Given the description of an element on the screen output the (x, y) to click on. 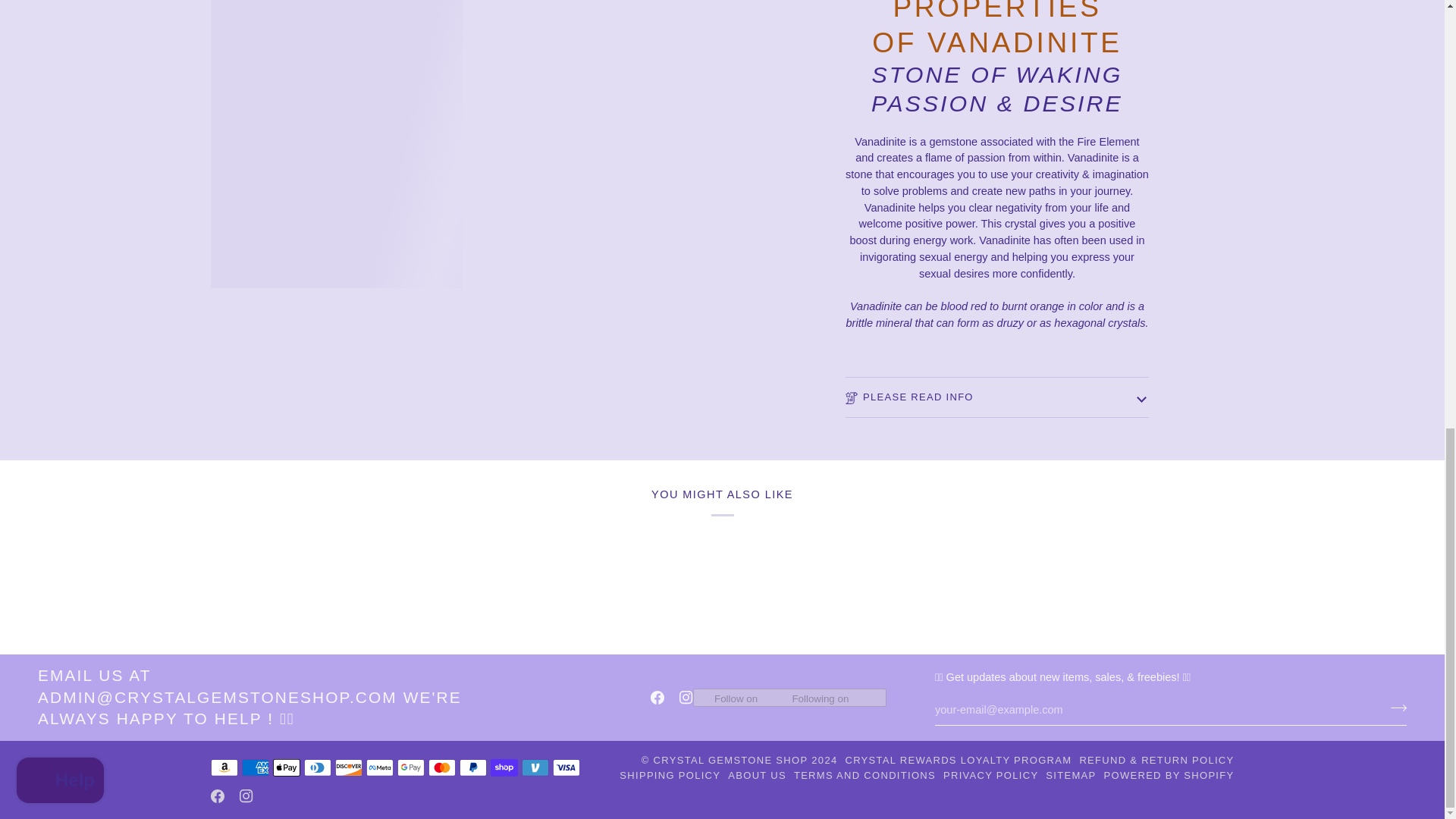
MASTERCARD (441, 767)
VISA (565, 767)
VENMO (534, 767)
Instagram (686, 697)
Instagram (246, 796)
Facebook (217, 796)
Facebook (656, 697)
DISCOVER (348, 767)
AMAZON (224, 767)
APPLE PAY (286, 767)
